Given the description of an element on the screen output the (x, y) to click on. 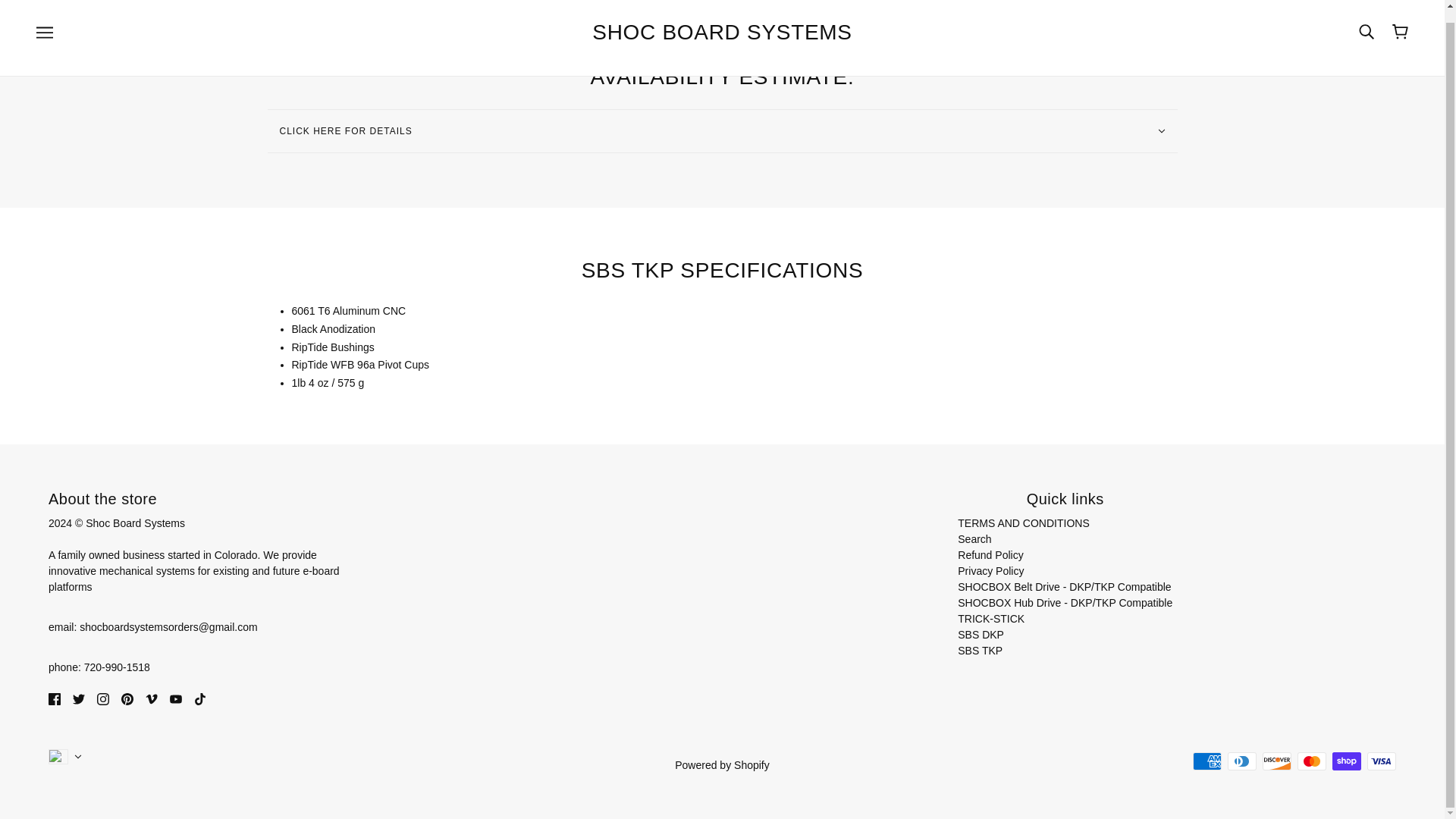
SHOC BOARD SYSTEMS (721, 32)
Privacy Policy (990, 571)
SBS DKP (981, 634)
CLICK HERE FOR DETAILS (721, 130)
SBS TKP (980, 650)
TRICK-STICK (991, 618)
TERMS AND CONDITIONS (1023, 522)
SHOC BOARD SYSTEMS (721, 32)
Refund Policy (990, 554)
